Given the description of an element on the screen output the (x, y) to click on. 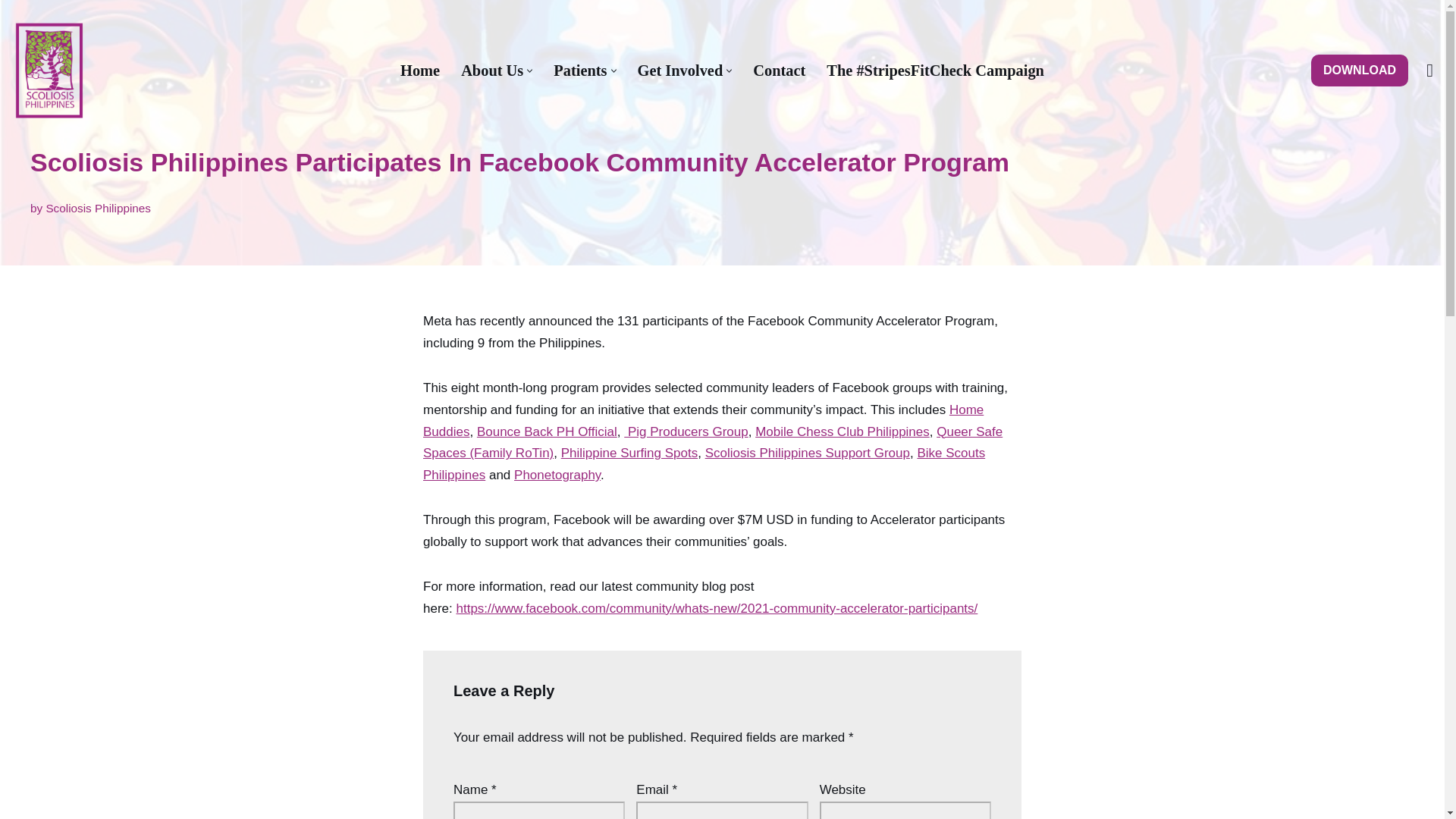
Posts by Scoliosis Philippines (98, 207)
About Us (491, 70)
DOWNLOAD (1359, 70)
Contact (778, 70)
Patients (580, 70)
Skip to content (11, 31)
Get Involved (680, 70)
Home (419, 70)
